Given the description of an element on the screen output the (x, y) to click on. 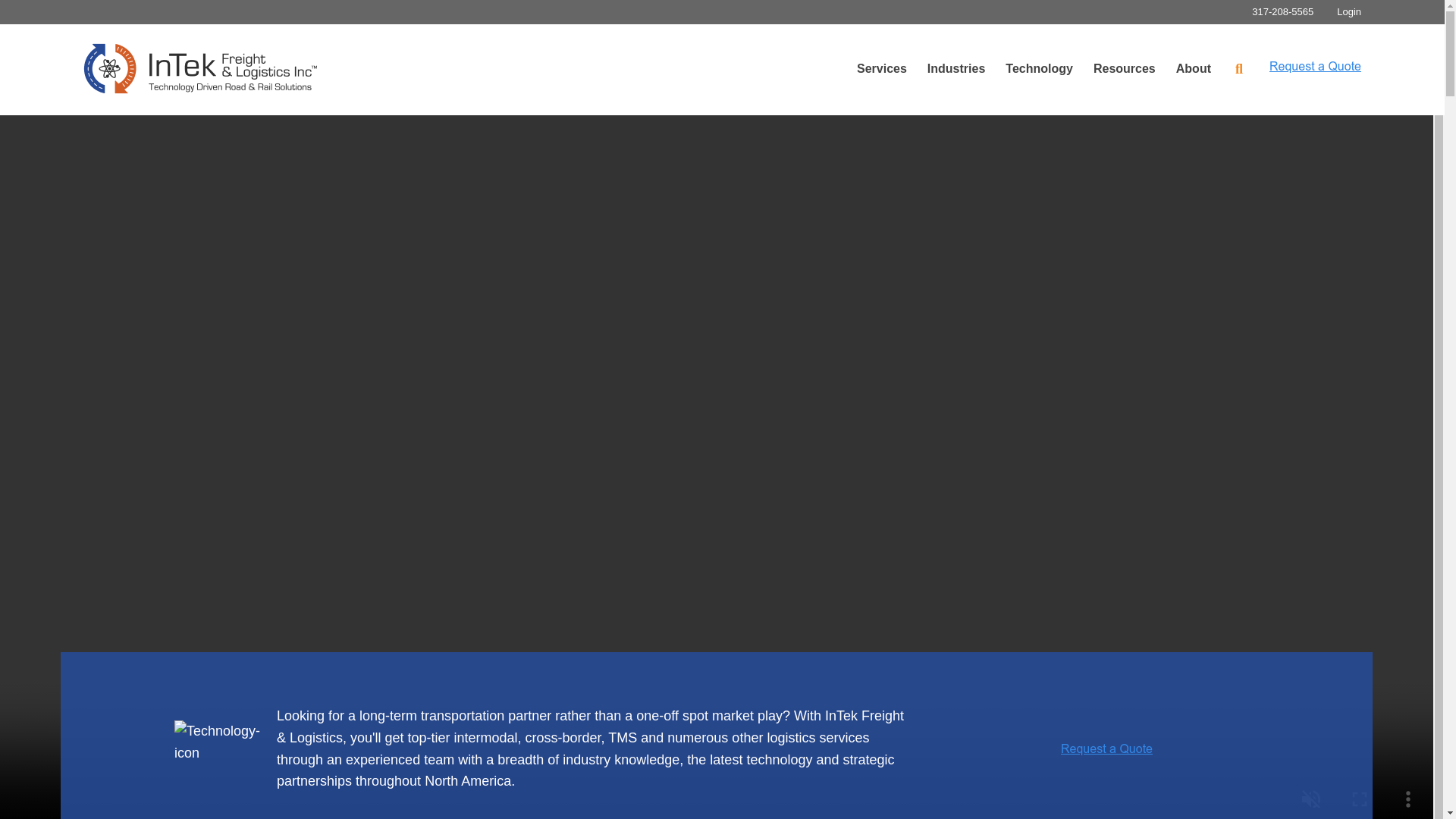
317-208-5565 (1282, 11)
Resources (1128, 69)
About (1198, 69)
Industries (960, 69)
Technology (1043, 69)
Login (1348, 11)
Services (886, 69)
